Given the description of an element on the screen output the (x, y) to click on. 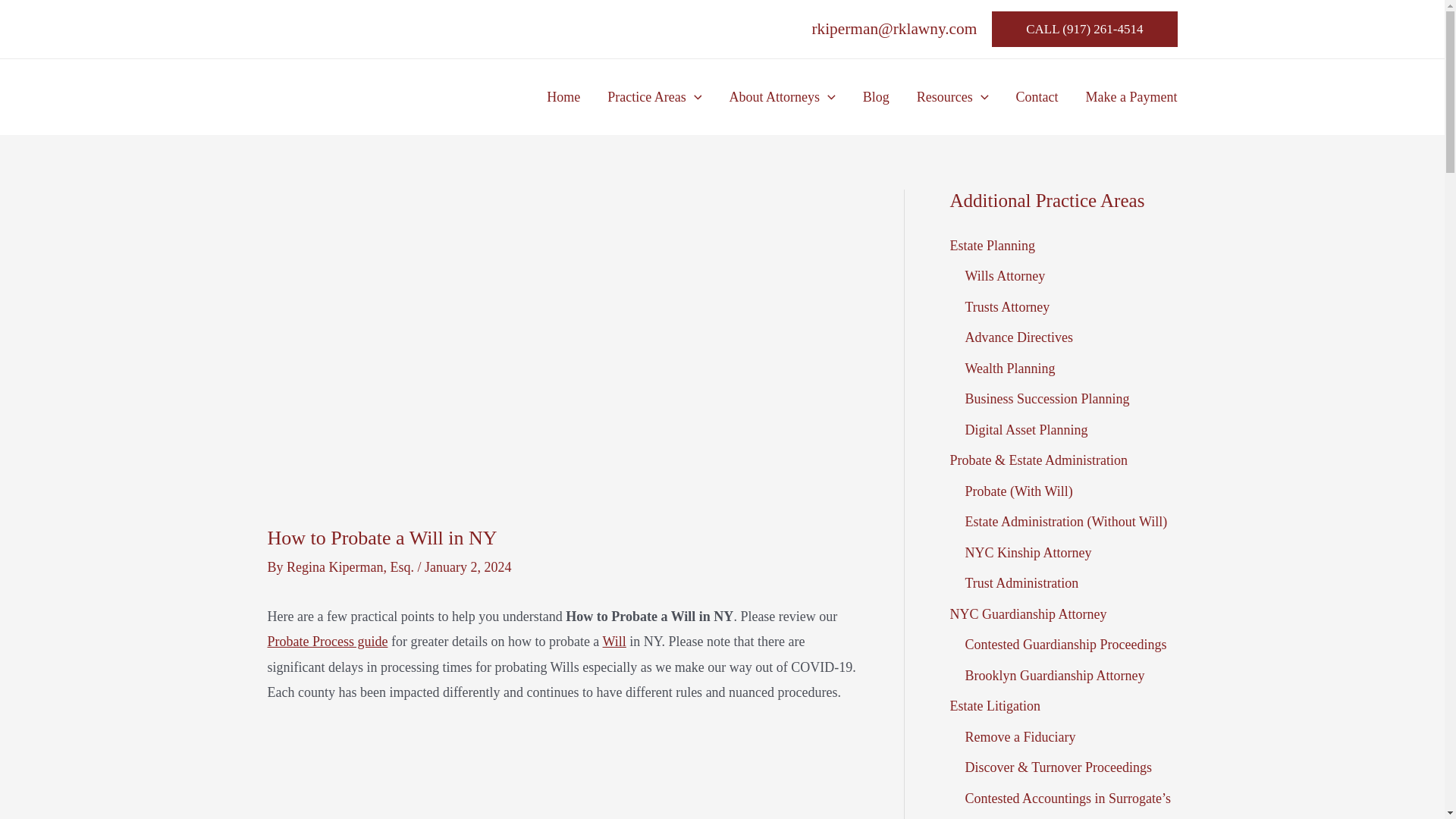
View all posts by Regina Kiperman, Esq. (351, 566)
Practice Areas (654, 96)
About Attorneys (781, 96)
